Given the description of an element on the screen output the (x, y) to click on. 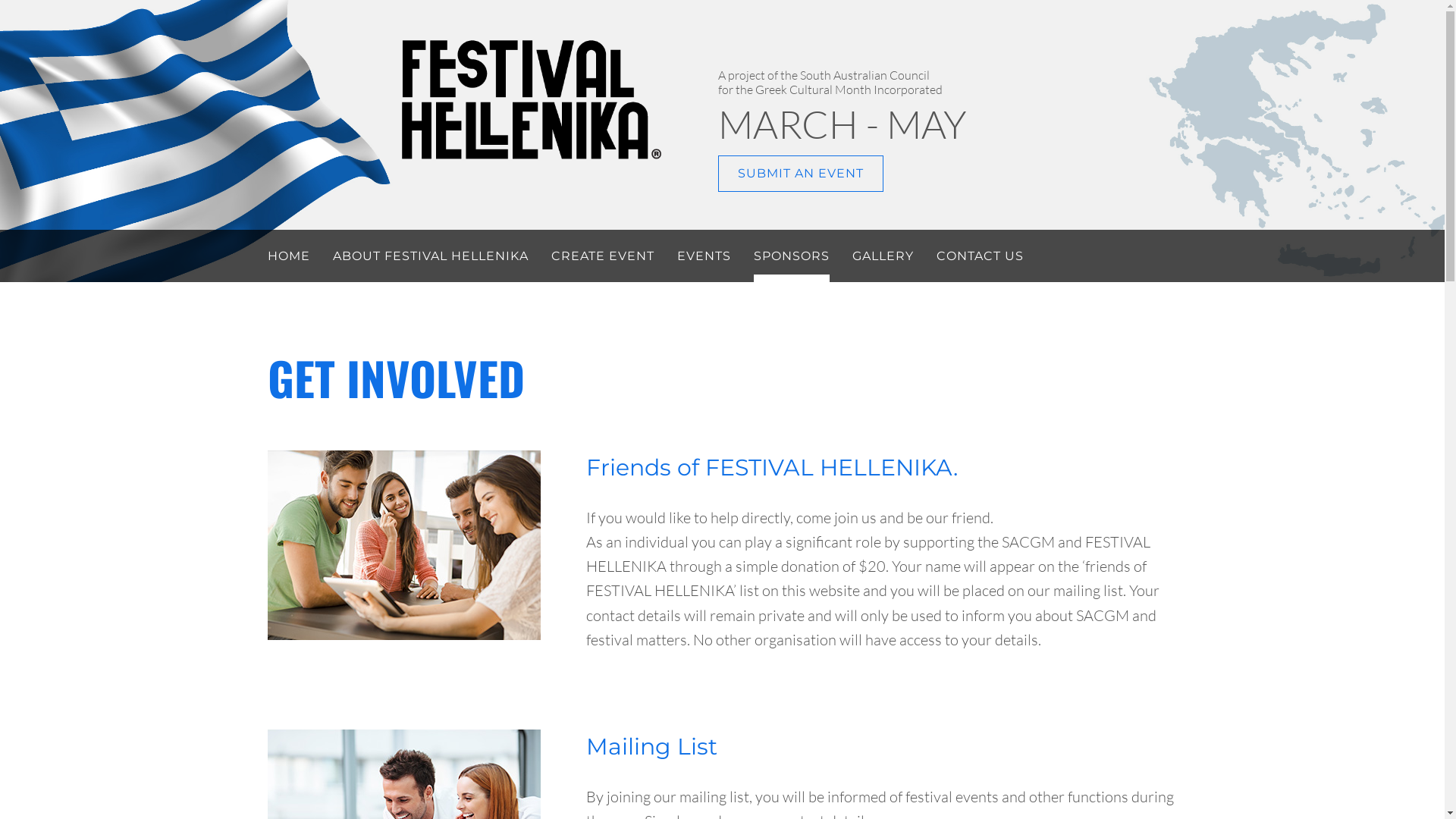
HOME Element type: text (287, 255)
CREATE EVENT Element type: text (601, 255)
CONTACT US Element type: text (978, 255)
SUBMIT AN EVENT Element type: text (800, 173)
GALLERY Element type: text (882, 255)
SPONSORS Element type: text (791, 255)
EVENTS Element type: text (703, 255)
ABOUT FESTIVAL HELLENIKA Element type: text (429, 255)
